Given the description of an element on the screen output the (x, y) to click on. 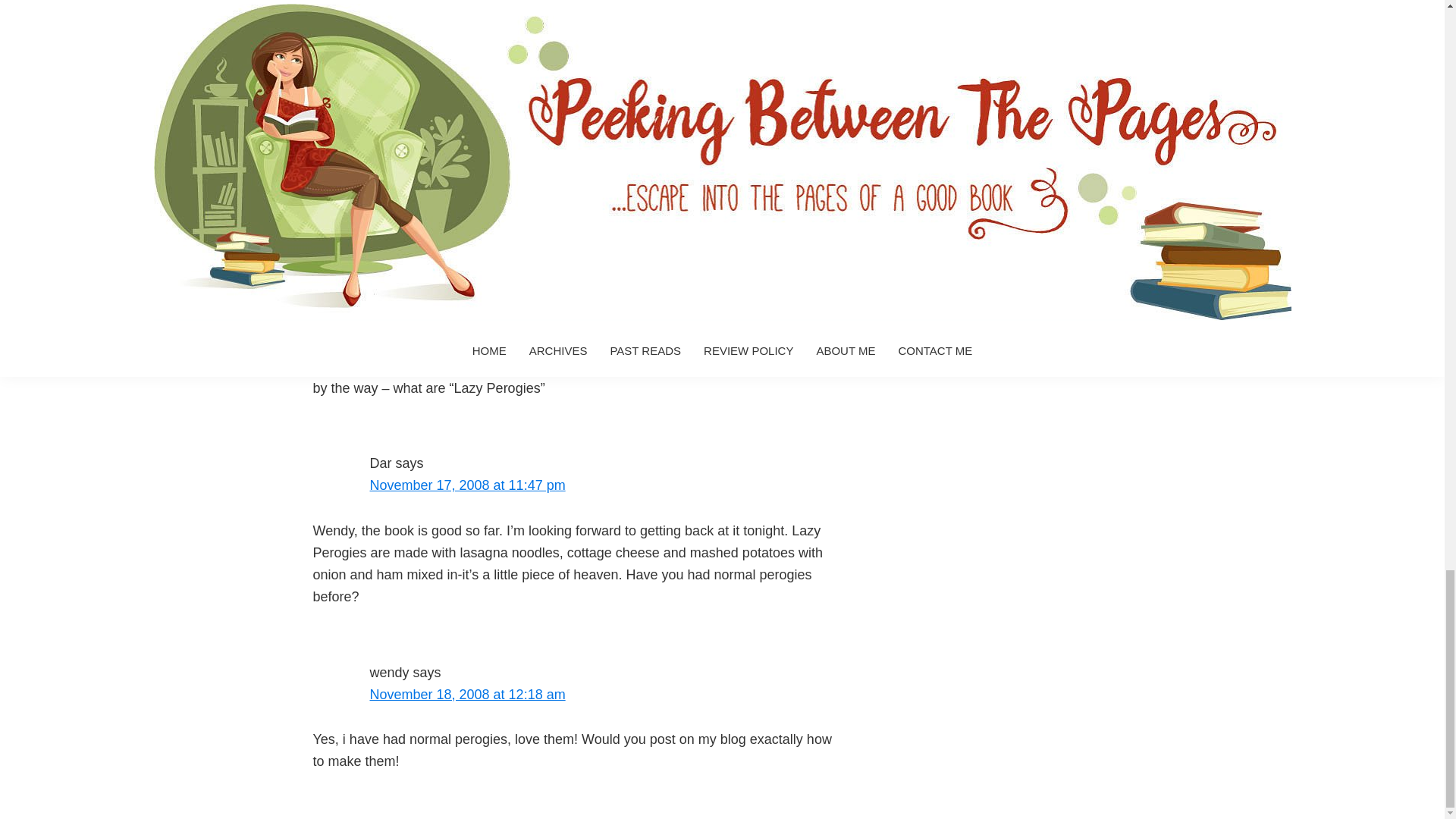
November 17, 2008 at 9:44 pm (463, 133)
November 18, 2008 at 12:18 am (467, 694)
November 17, 2008 at 11:47 pm (467, 485)
November 17, 2008 at 11:31 pm (467, 275)
